Given the description of an element on the screen output the (x, y) to click on. 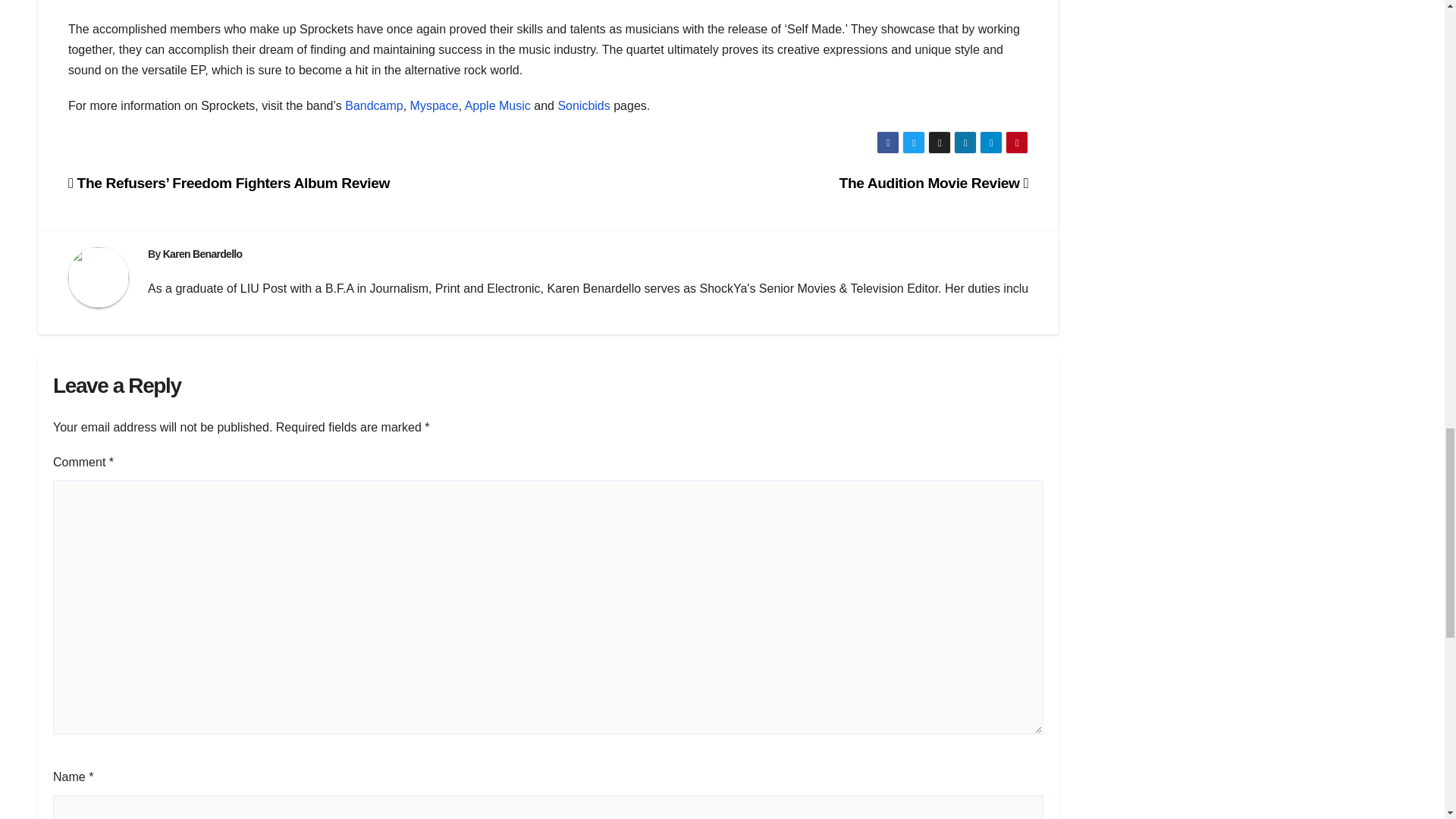
Myspace (434, 105)
Apple Music (497, 105)
The Audition Movie Review (934, 182)
Sonicbids (583, 105)
Karen Benardello (203, 254)
Bandcamp (374, 105)
